Given the description of an element on the screen output the (x, y) to click on. 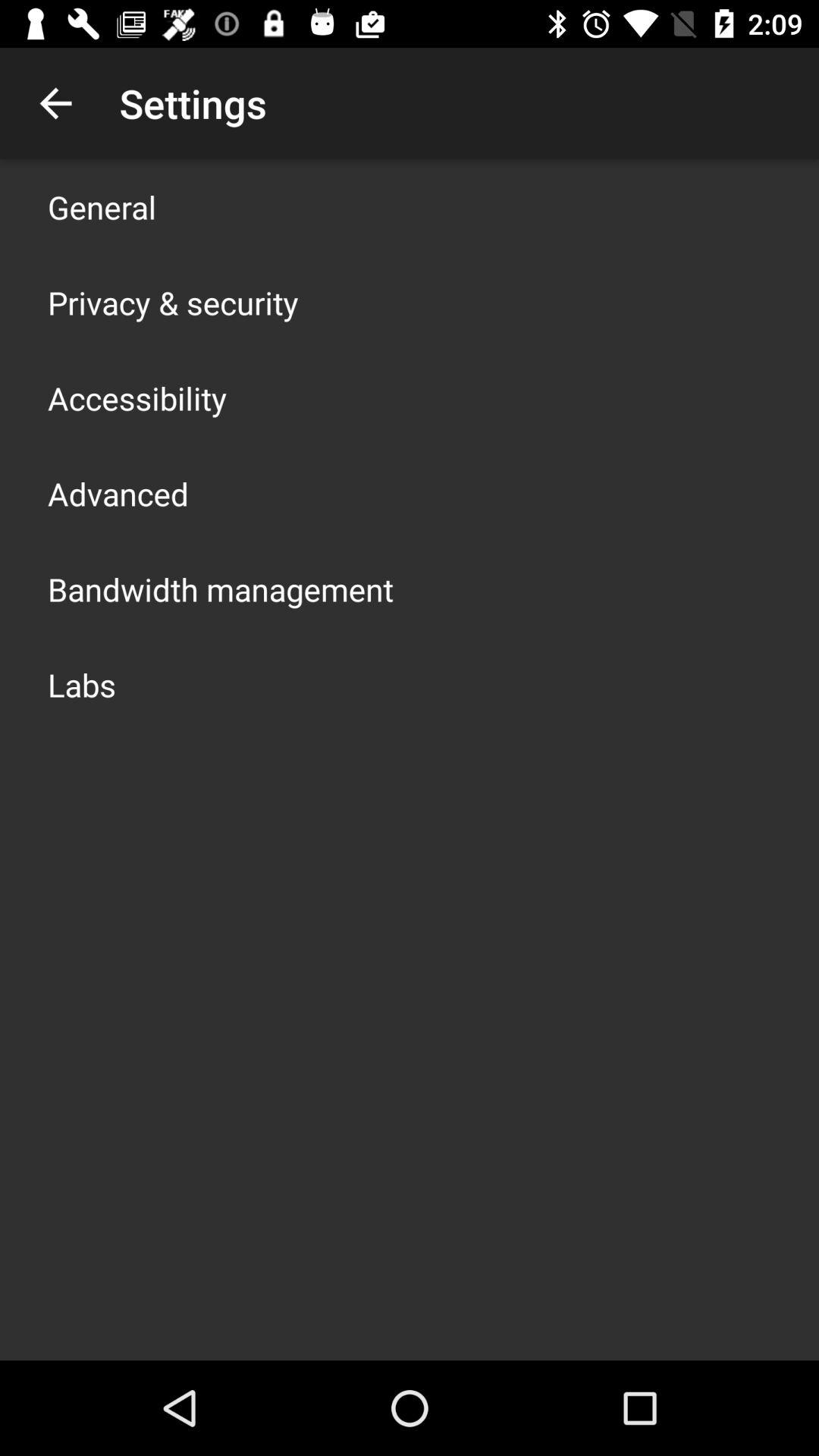
launch icon below advanced (220, 588)
